Given the description of an element on the screen output the (x, y) to click on. 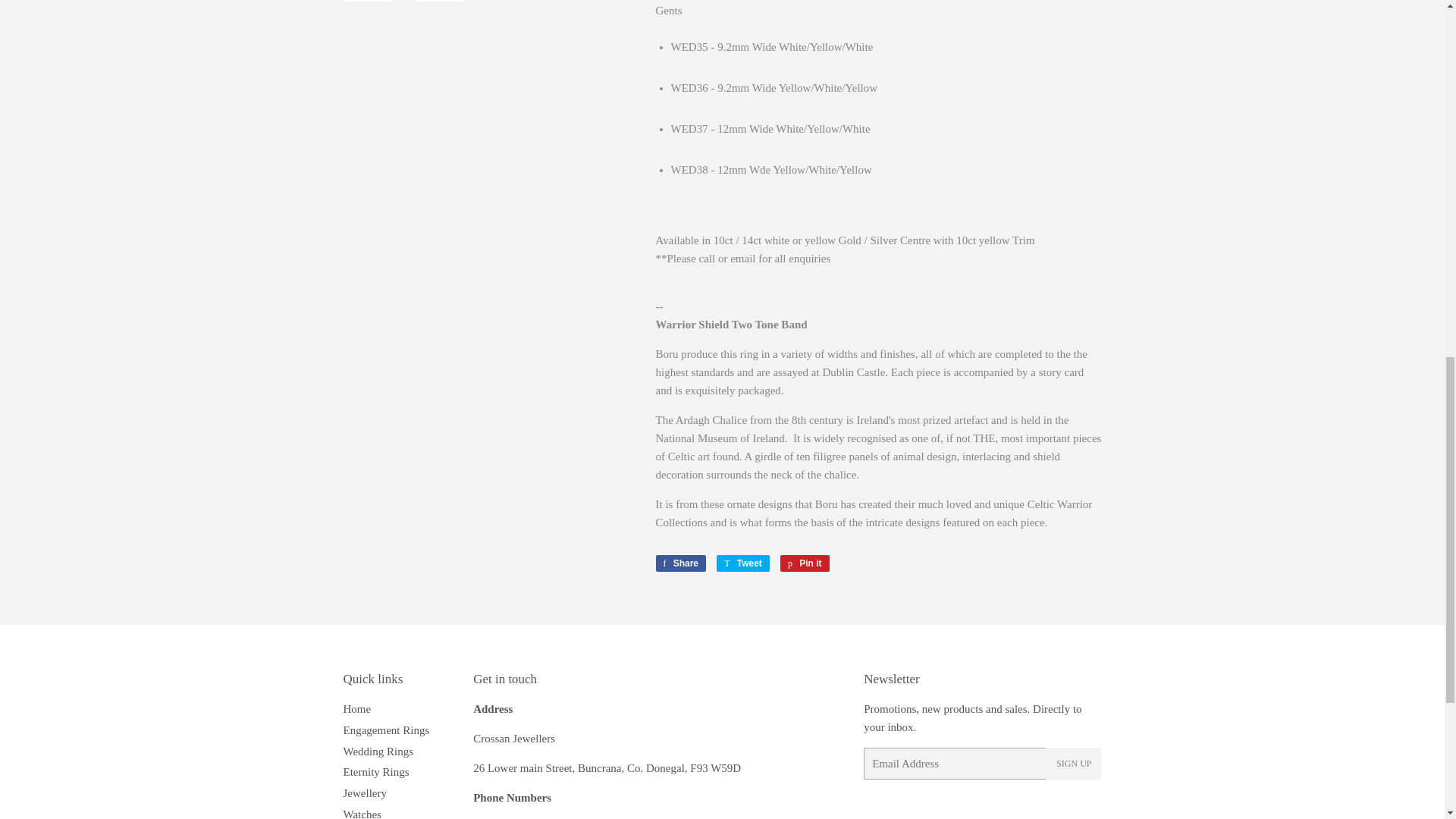
Pin on Pinterest (804, 563)
Tweet on Twitter (743, 563)
Share on Facebook (680, 563)
